Given the description of an element on the screen output the (x, y) to click on. 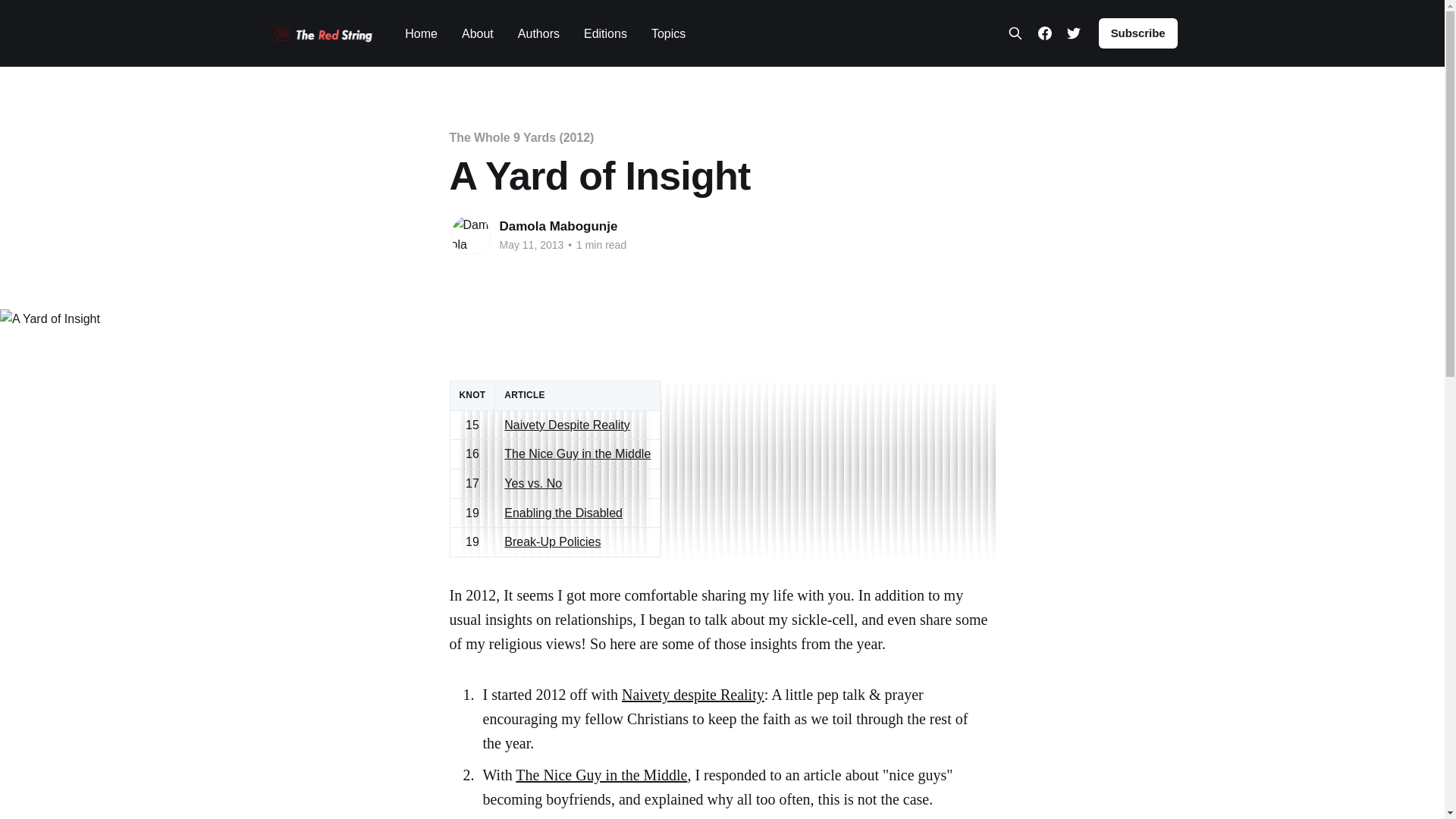
Damola Mabogunje (558, 226)
Yes vs. No (532, 482)
Topics (667, 33)
Twitter (1073, 33)
Naivety Despite Reality (565, 424)
The Nice Guy in the Middle (576, 453)
Home (421, 33)
Enabling the Disabled (563, 512)
Naivety despite Reality (692, 694)
Break-Up Policies (551, 541)
Authors (538, 33)
The Nice Guy in the Middle (601, 774)
Subscribe (1138, 33)
Facebook (1044, 33)
About (477, 33)
